Given the description of an element on the screen output the (x, y) to click on. 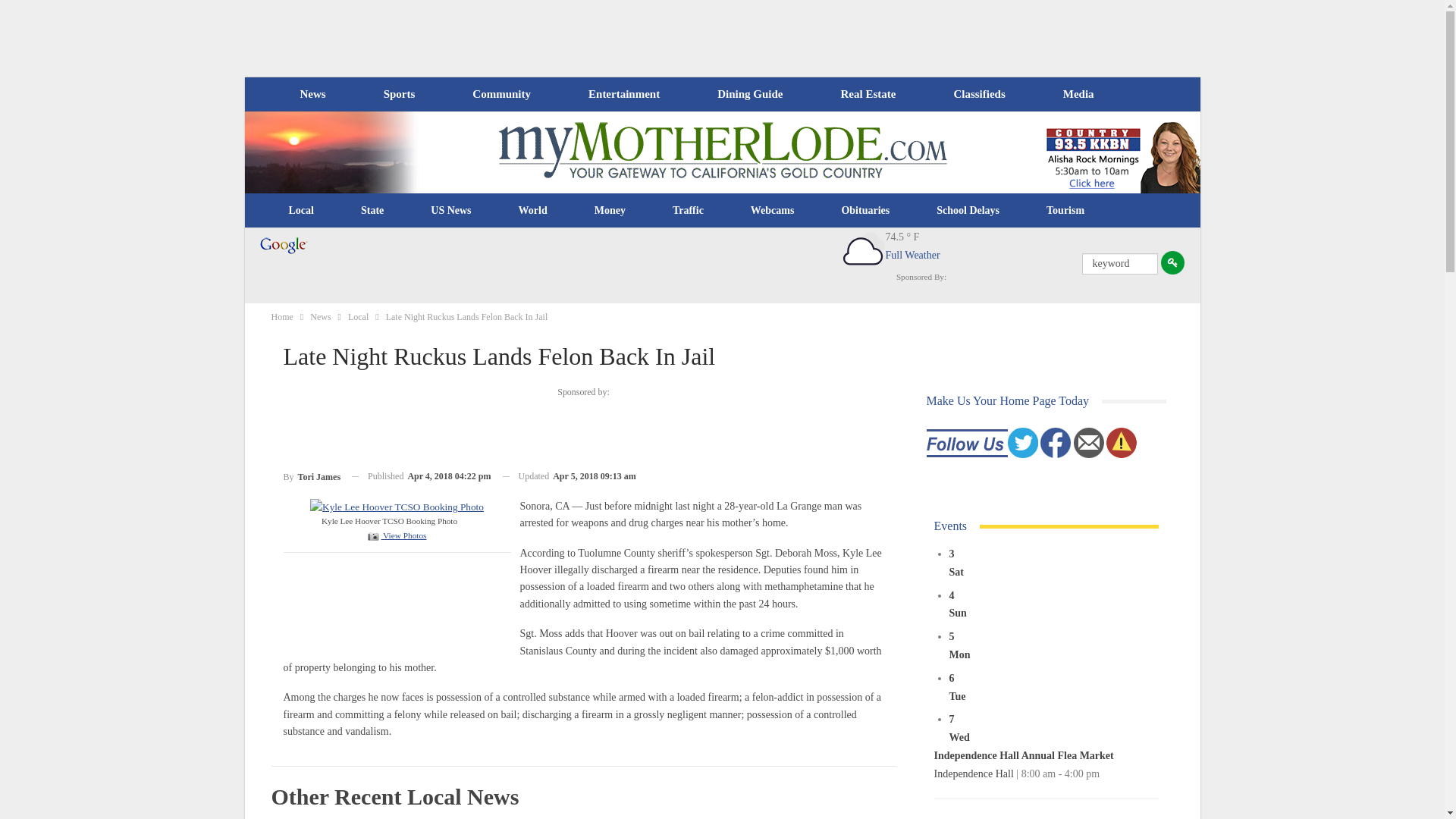
Media (1078, 93)
Dining Guide (749, 93)
Entertainment (624, 93)
Browse Author Articles (311, 476)
Local (300, 210)
Traffic (687, 210)
Money (609, 210)
TCSO Booking Photo (396, 505)
Obituaries (865, 210)
US News (451, 210)
